Given the description of an element on the screen output the (x, y) to click on. 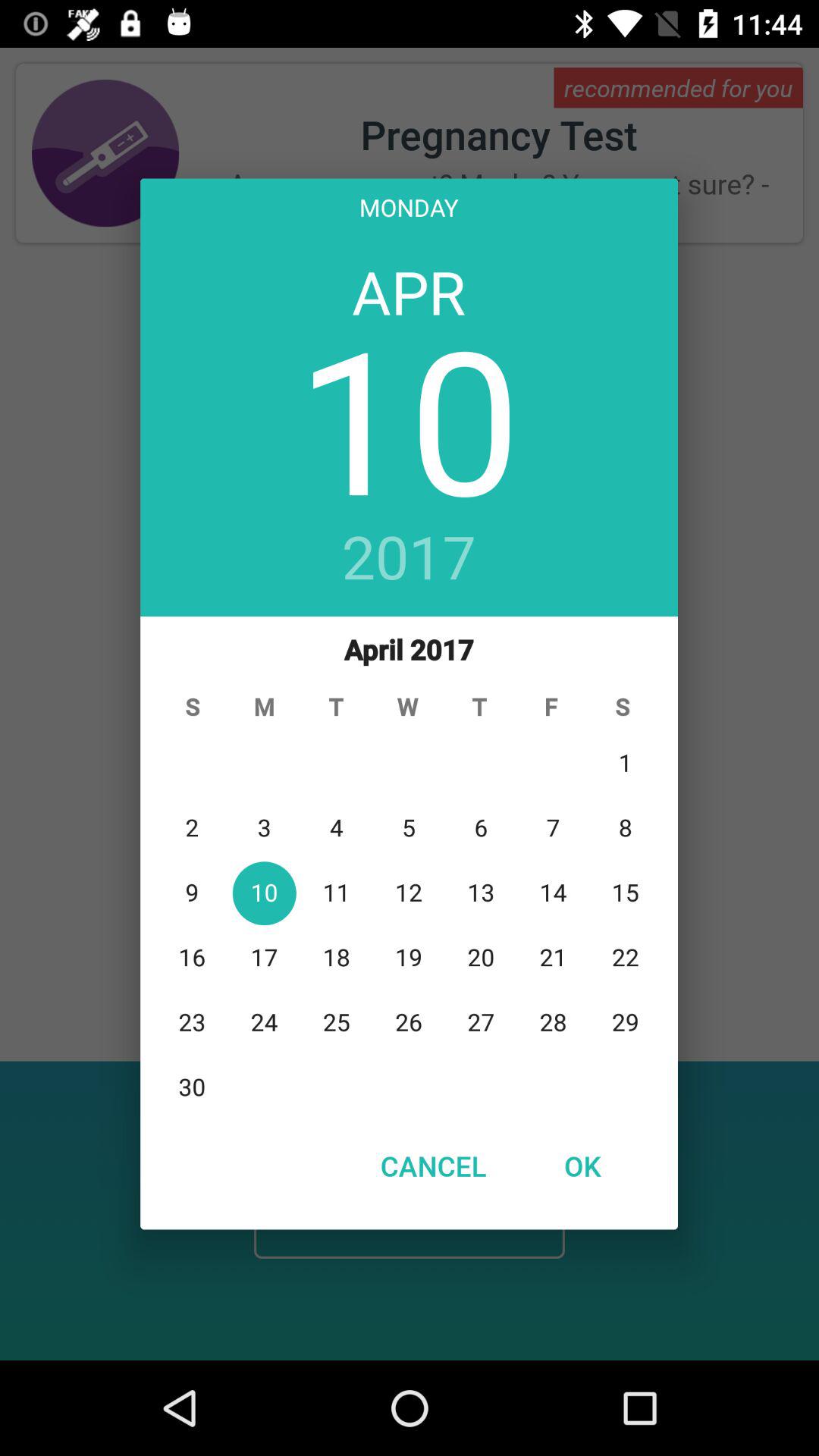
press ok button (582, 1165)
